Given the description of an element on the screen output the (x, y) to click on. 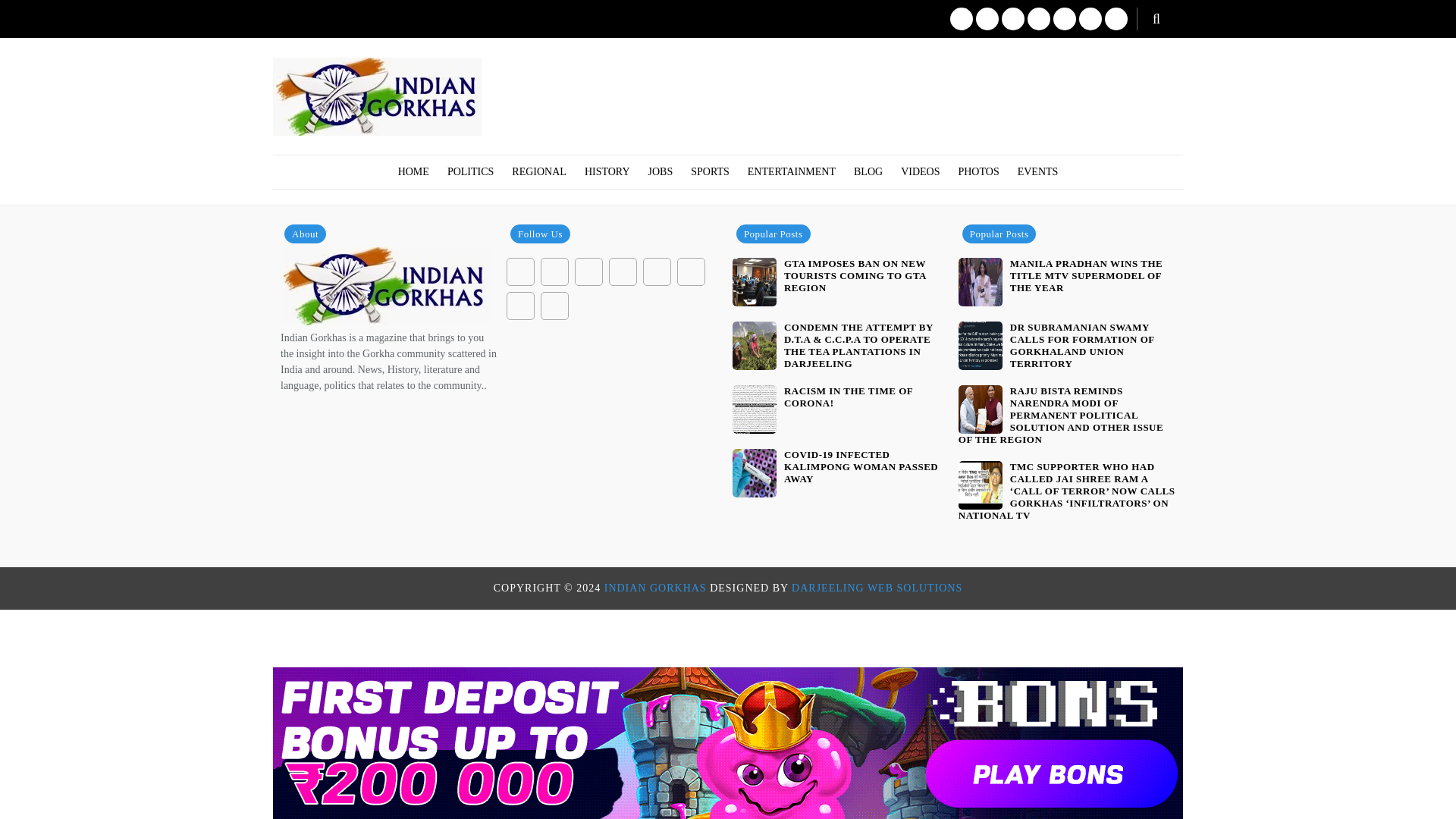
REGIONAL (538, 172)
JOBS (660, 172)
SPORTS (709, 172)
ENTERTAINMENT (791, 172)
HOME (413, 172)
HISTORY (607, 172)
POLITICS (470, 172)
Indian Gorkhas (655, 587)
Submit (37, 17)
